Given the description of an element on the screen output the (x, y) to click on. 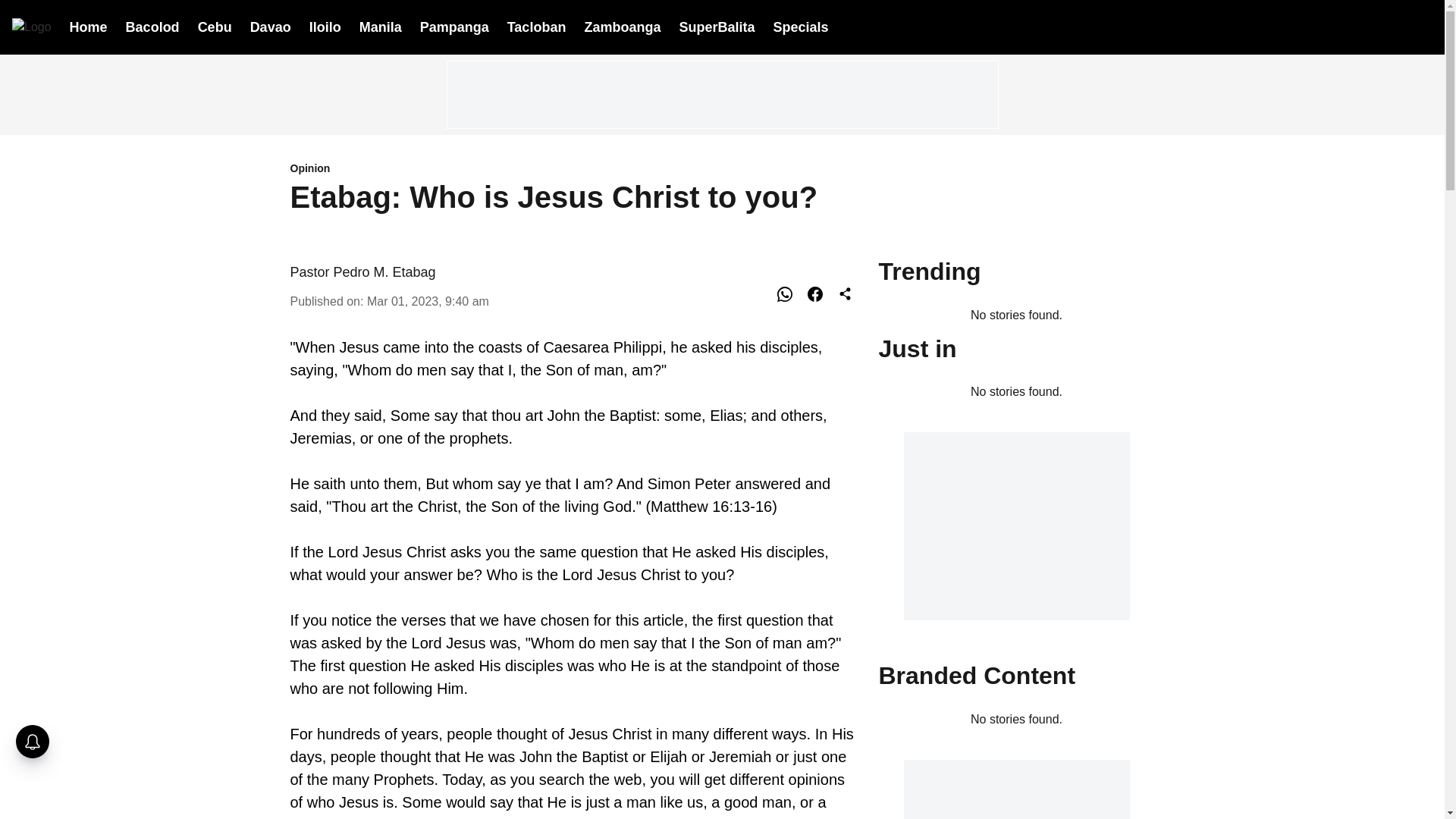
Manila (380, 26)
Bacolod (152, 26)
Iloilo (324, 26)
Tacloban (536, 26)
Pastor Pedro M. Etabag  (364, 272)
SuperBalita (716, 27)
Opinion (574, 169)
Cebu (214, 26)
2023-03-01 09:40 (427, 300)
